Given the description of an element on the screen output the (x, y) to click on. 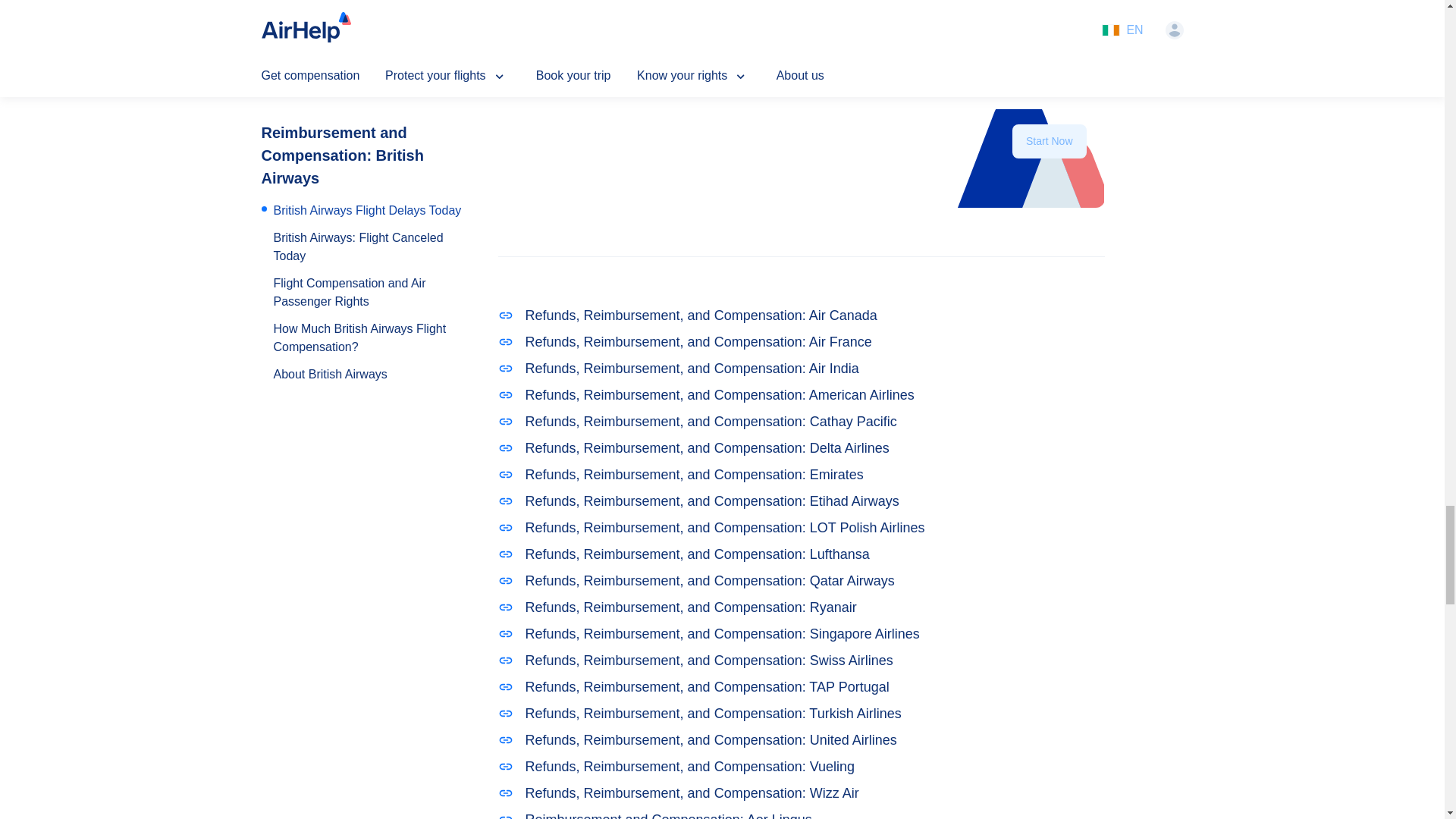
Start Now (1048, 141)
Refunds, Reimbursement, and Compensation: Delta Airlines (800, 448)
Refunds, Reimbursement, and Compensation: Air Canada (800, 315)
Refunds, Reimbursement, and Compensation: Air India (800, 368)
Refunds, Reimbursement, and Compensation: Cathay Pacific (800, 421)
Refunds, Reimbursement, and Compensation: Air France (800, 342)
Refunds, Reimbursement, and Compensation: American Airlines (800, 394)
